Given the description of an element on the screen output the (x, y) to click on. 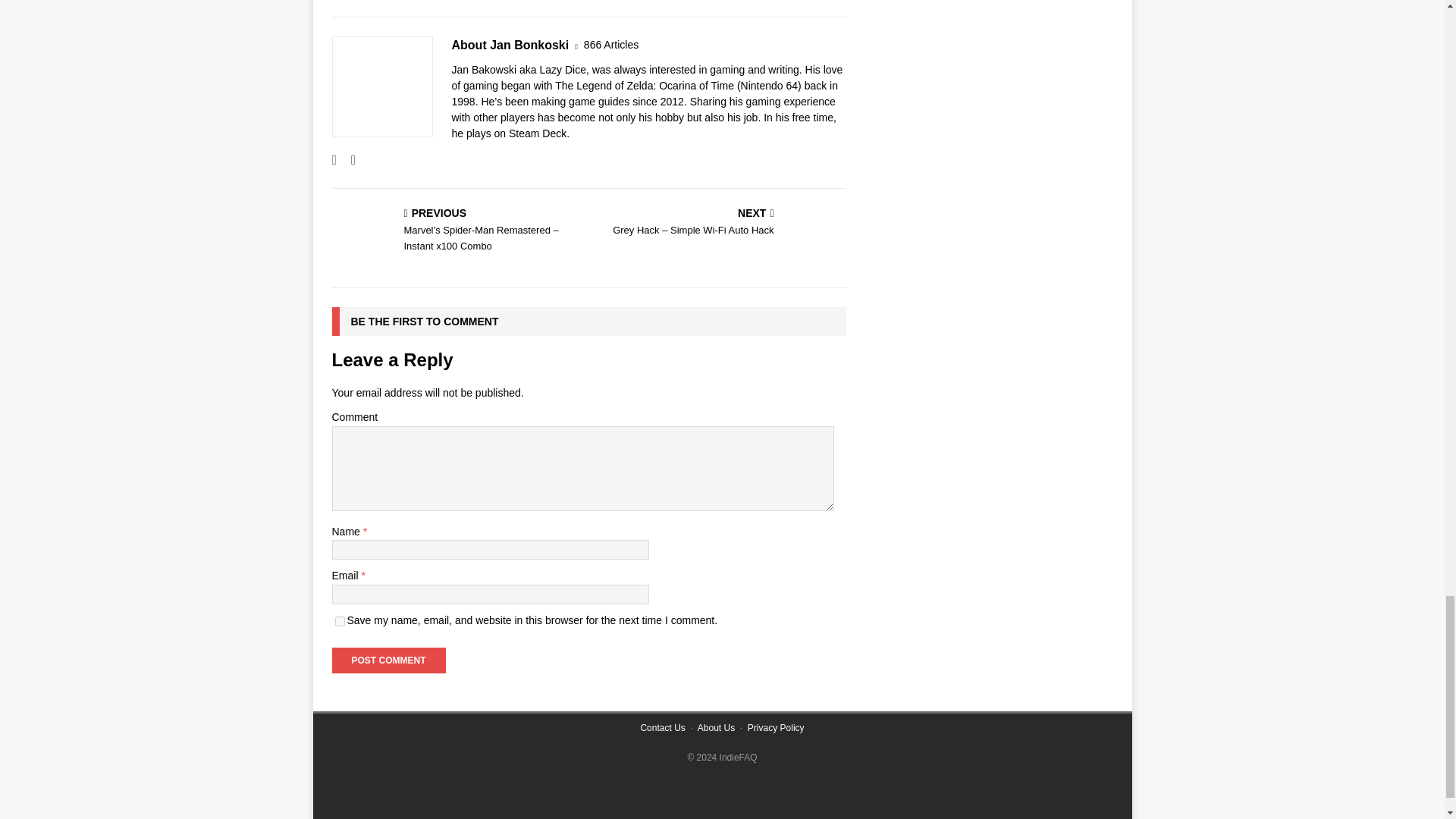
Privacy Policy (776, 727)
About Us (716, 727)
866 Articles (611, 44)
Follow Jan Bonkoski on Twitter (347, 160)
Post Comment (388, 660)
Post Comment (388, 660)
yes (339, 621)
More articles written by Jan Bonkoski' (611, 44)
Contact Us (662, 727)
